Given the description of an element on the screen output the (x, y) to click on. 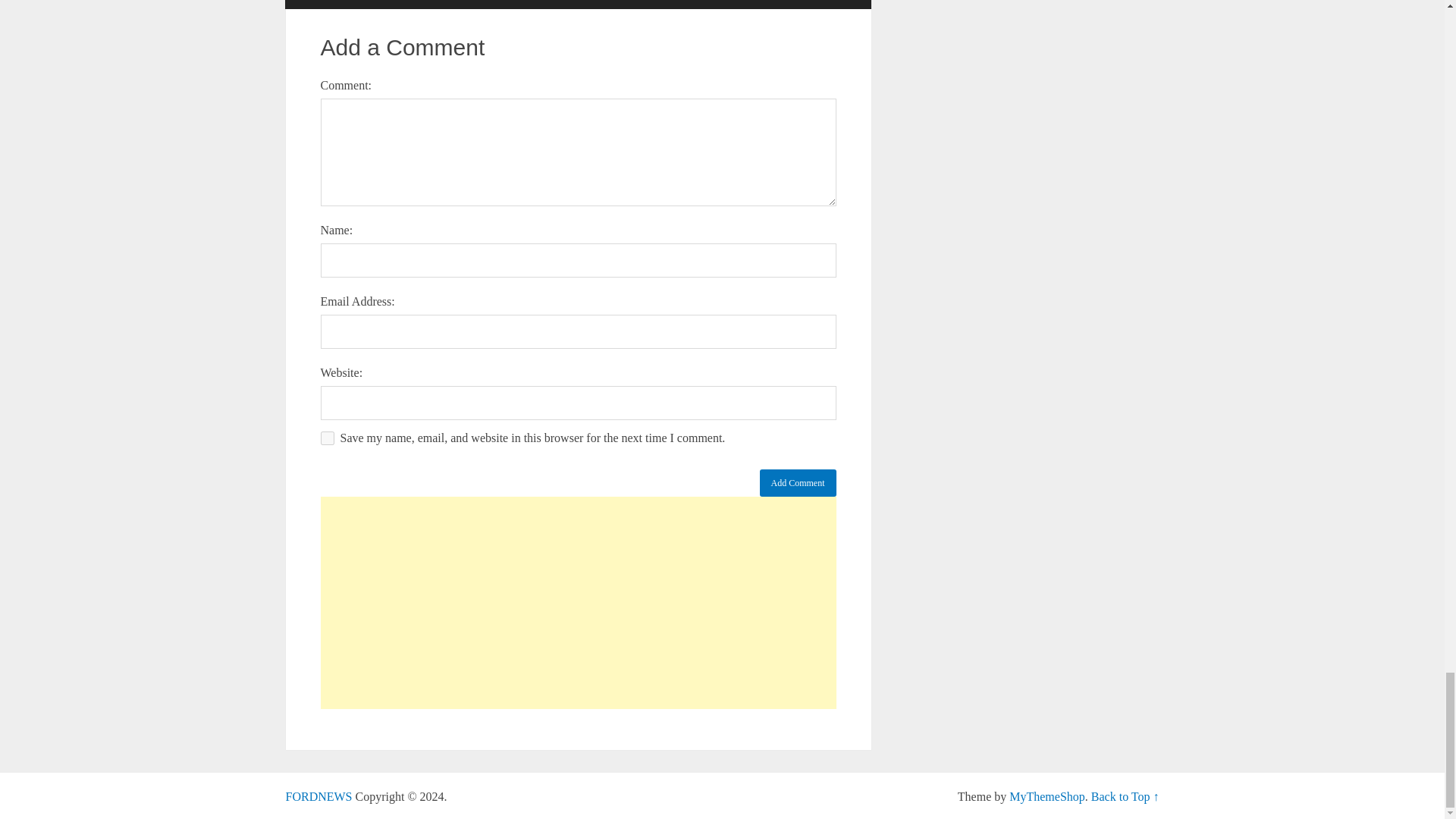
yes (326, 438)
Add Comment (797, 482)
MyThemeShop (1046, 796)
Add Comment (797, 482)
FORDNEWS (318, 796)
FORDNEWS (318, 796)
